Given the description of an element on the screen output the (x, y) to click on. 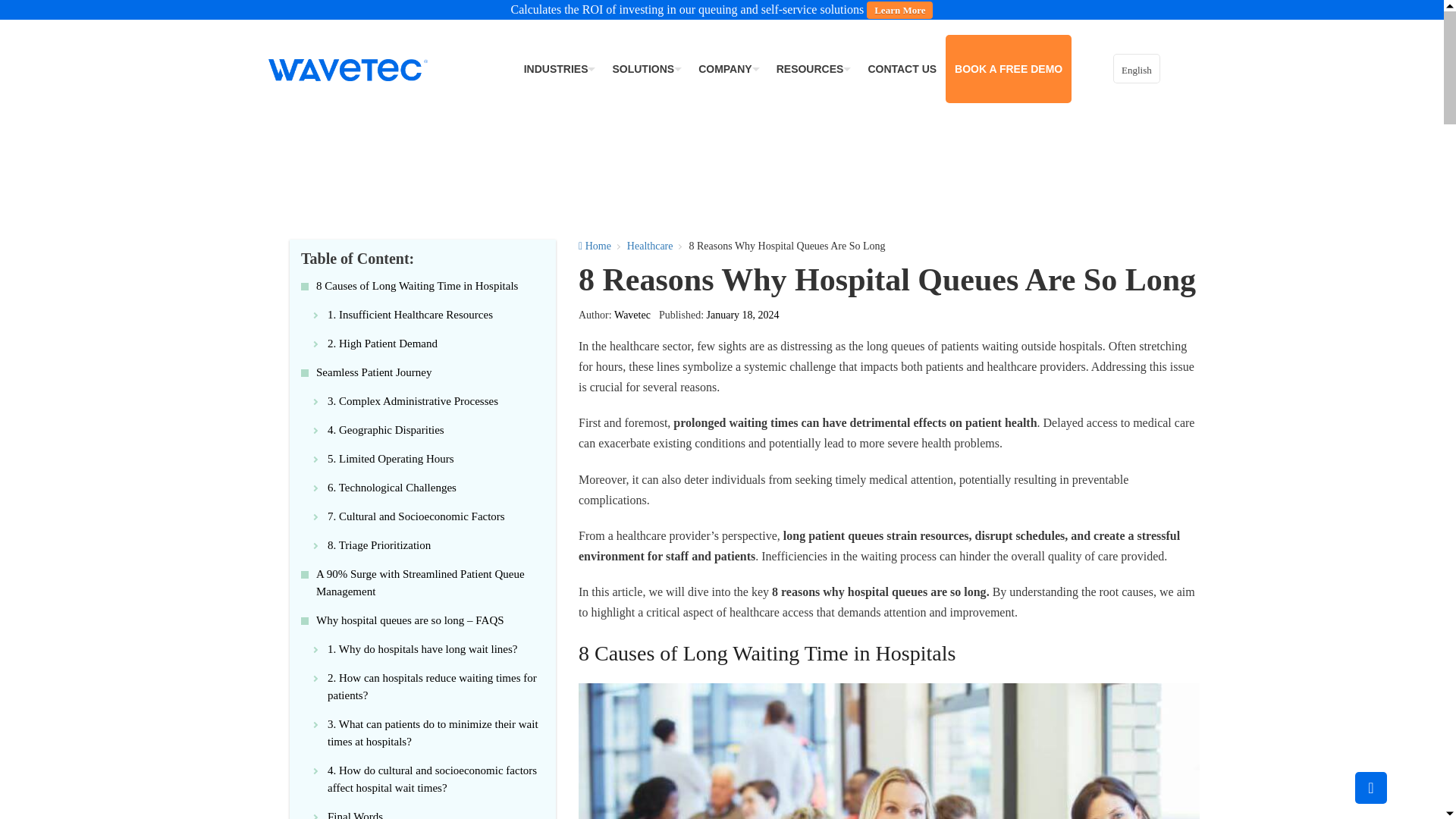
Wavetec (347, 69)
SOLUTIONS (645, 69)
INDUSTRIES (559, 69)
8 Reasons Why Hospital Queues Are So Long 1 (888, 751)
Learn More (899, 9)
